Given the description of an element on the screen output the (x, y) to click on. 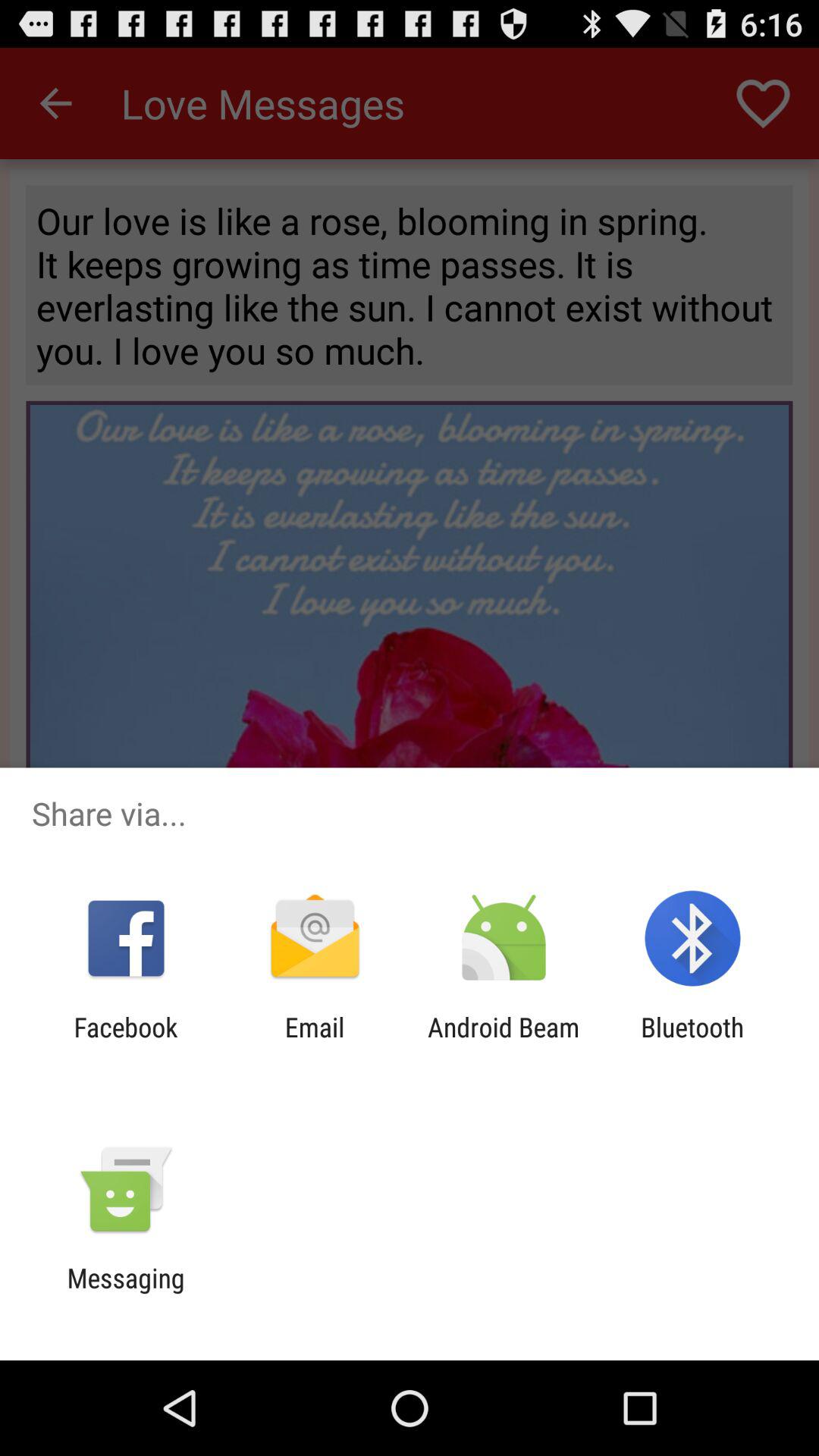
turn on item next to the android beam icon (691, 1042)
